Given the description of an element on the screen output the (x, y) to click on. 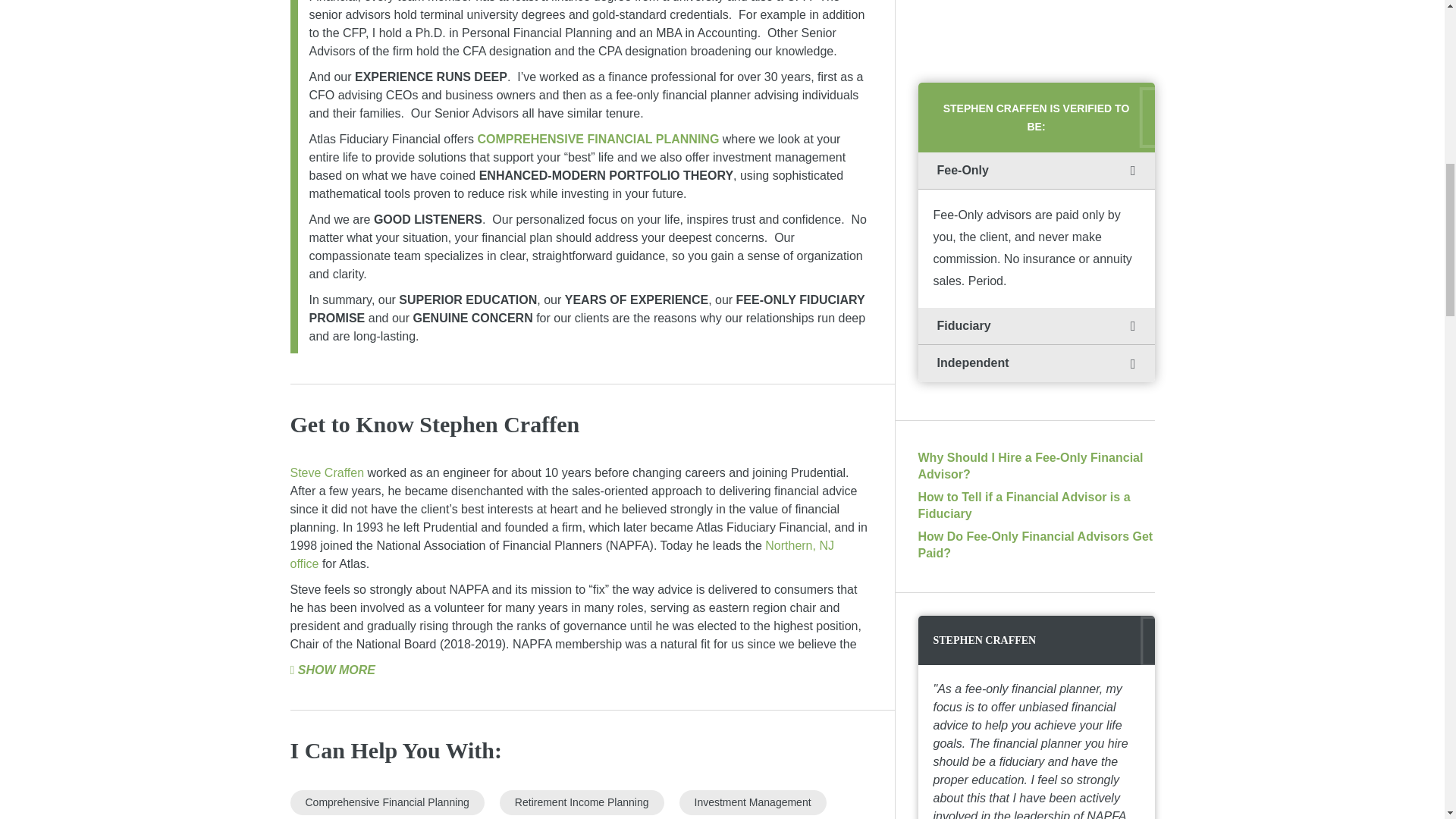
Why Should I Hire a Fee-Only Financial Advisor? (1029, 465)
How Do Fee-Only Financial Advisors Get Paid? (1035, 544)
COMPREHENSIVE FINANCIAL PLANNING (598, 138)
Northern, NJ office (560, 554)
How to Tell if a Financial Advisor is a Fiduciary (1023, 505)
Steve Craffen (327, 472)
